Given the description of an element on the screen output the (x, y) to click on. 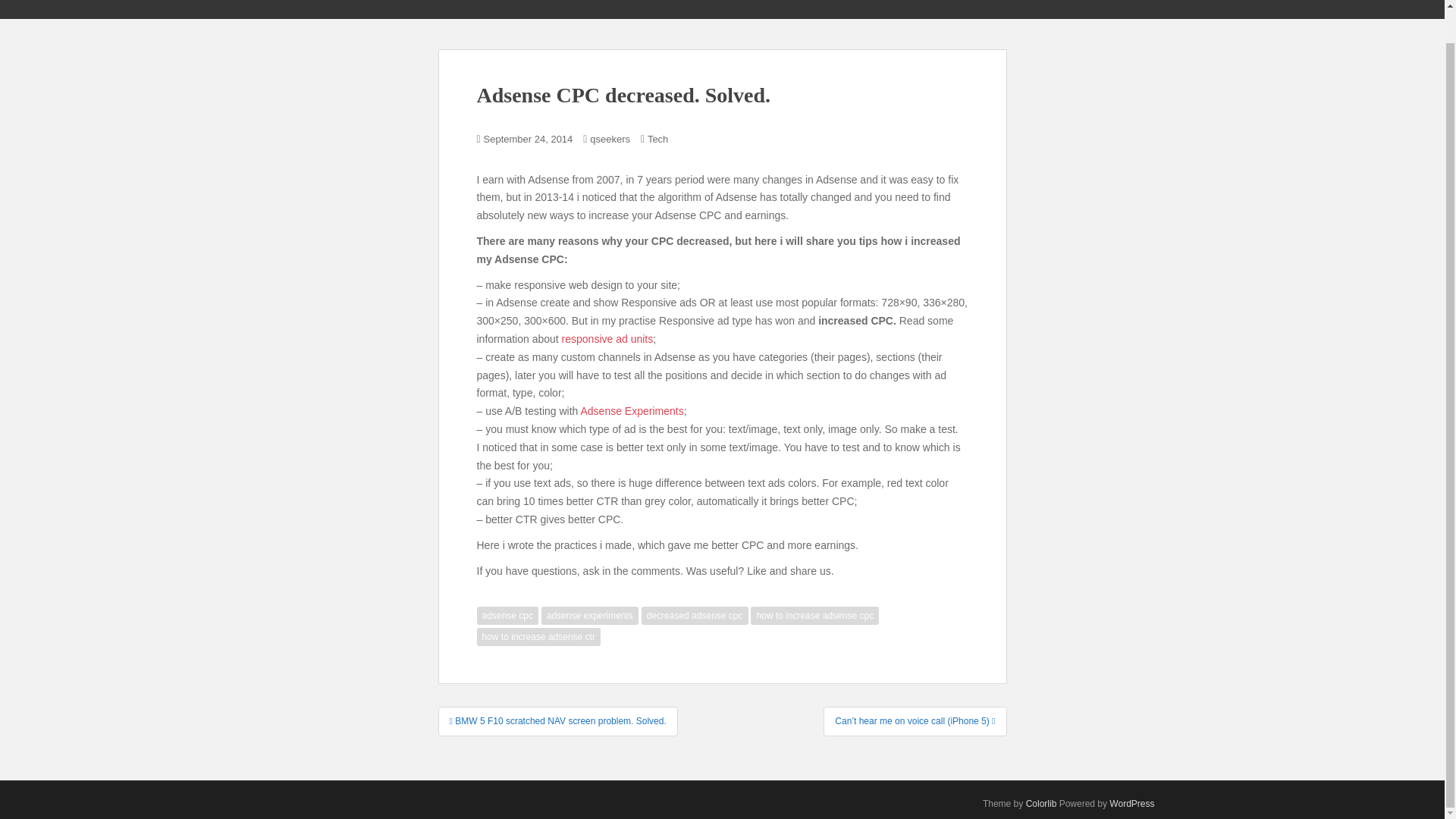
decreased adsense cpc (695, 615)
HEALTH (1054, 3)
Qseekers.com (345, 5)
Colorlib (1041, 803)
September 24, 2014 (528, 138)
how to increase adsense ctr (537, 637)
AUTO (1002, 3)
Adsense Experiments (630, 410)
adsense cpc (506, 615)
Responsive ad units (607, 338)
adsense experiments (590, 615)
responsive ad units (607, 338)
qseekers (609, 138)
HOME (953, 3)
CINEMA (1113, 3)
